Given the description of an element on the screen output the (x, y) to click on. 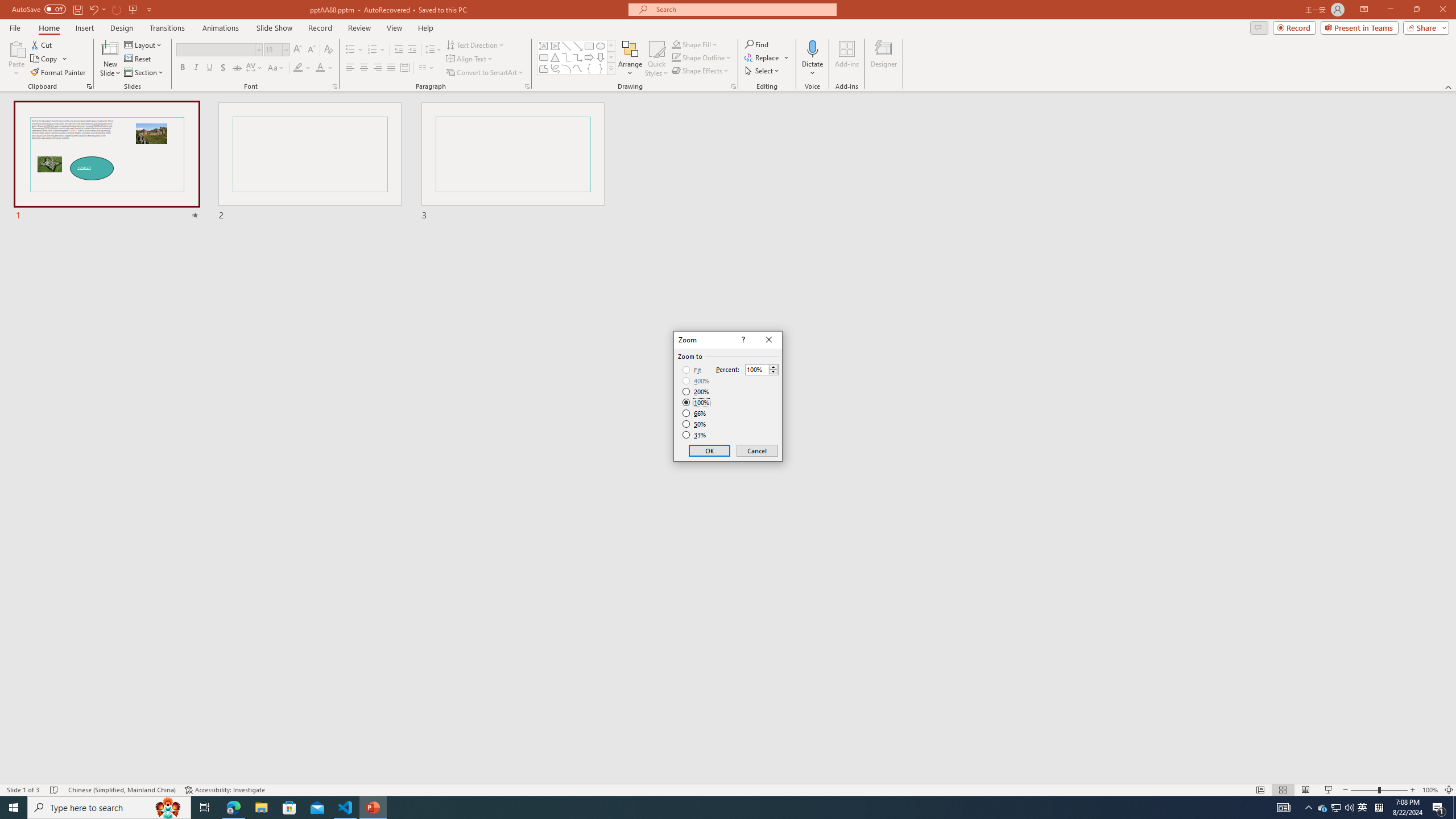
400% (696, 380)
Fit (691, 370)
